Given the description of an element on the screen output the (x, y) to click on. 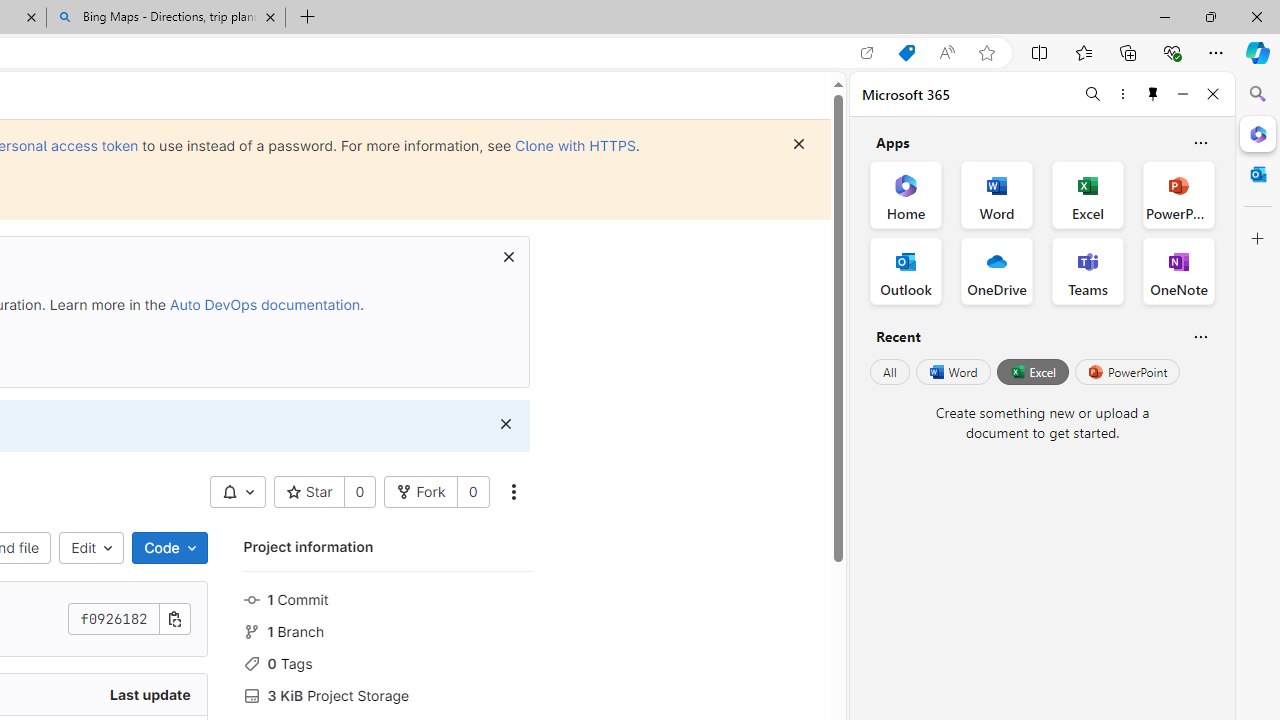
OneNote Office App (1178, 270)
Teams Office App (1087, 270)
0 (472, 491)
 Star (308, 491)
Outlook Office App (906, 270)
0 Tags (387, 662)
OneDrive Office App (996, 270)
Open in app (867, 53)
